Given the description of an element on the screen output the (x, y) to click on. 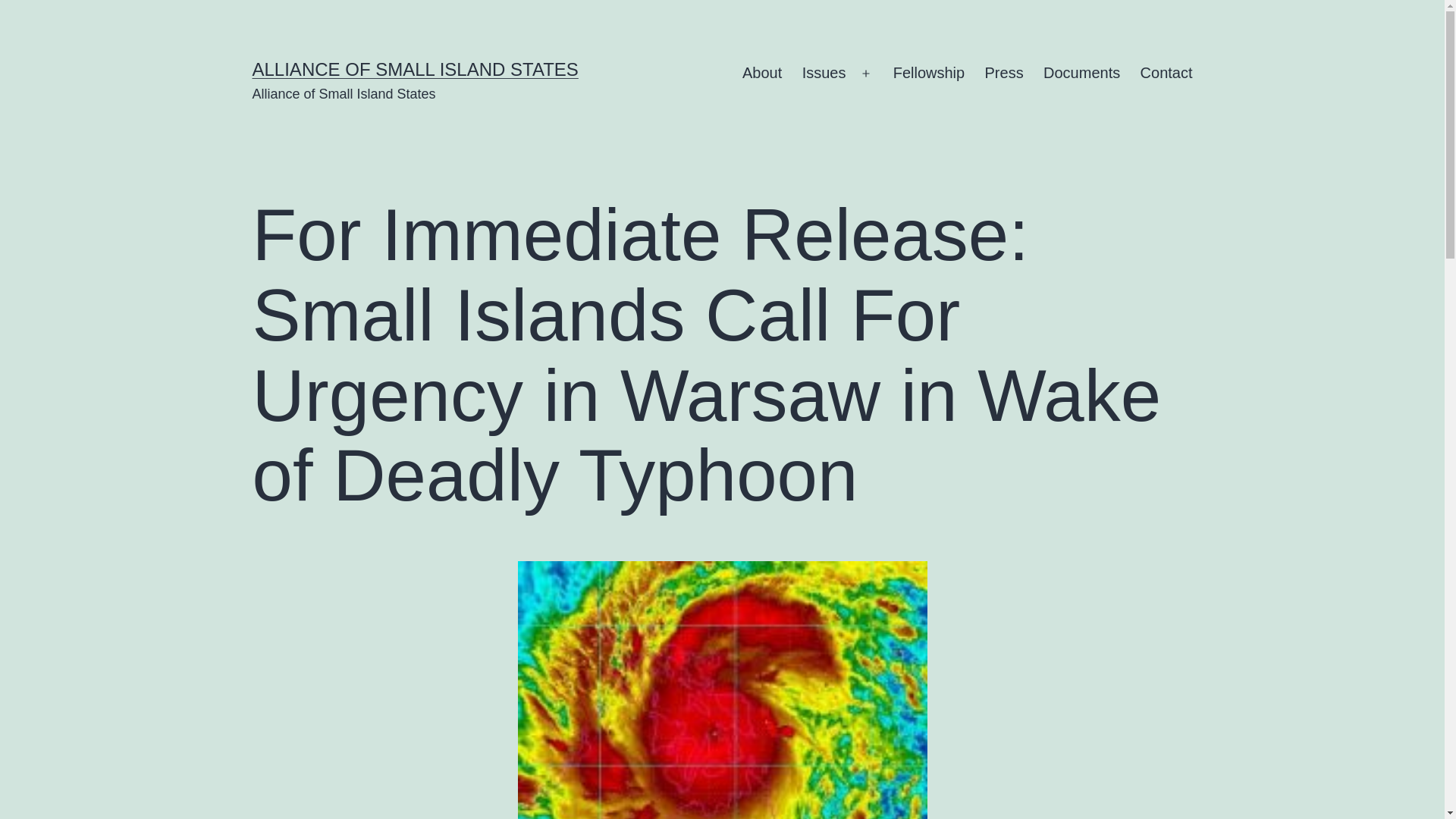
Press (1003, 73)
Documents (1082, 73)
Fellowship (928, 73)
Contact (1165, 73)
Issues (824, 73)
About (762, 73)
ALLIANCE OF SMALL ISLAND STATES (414, 68)
